Given the description of an element on the screen output the (x, y) to click on. 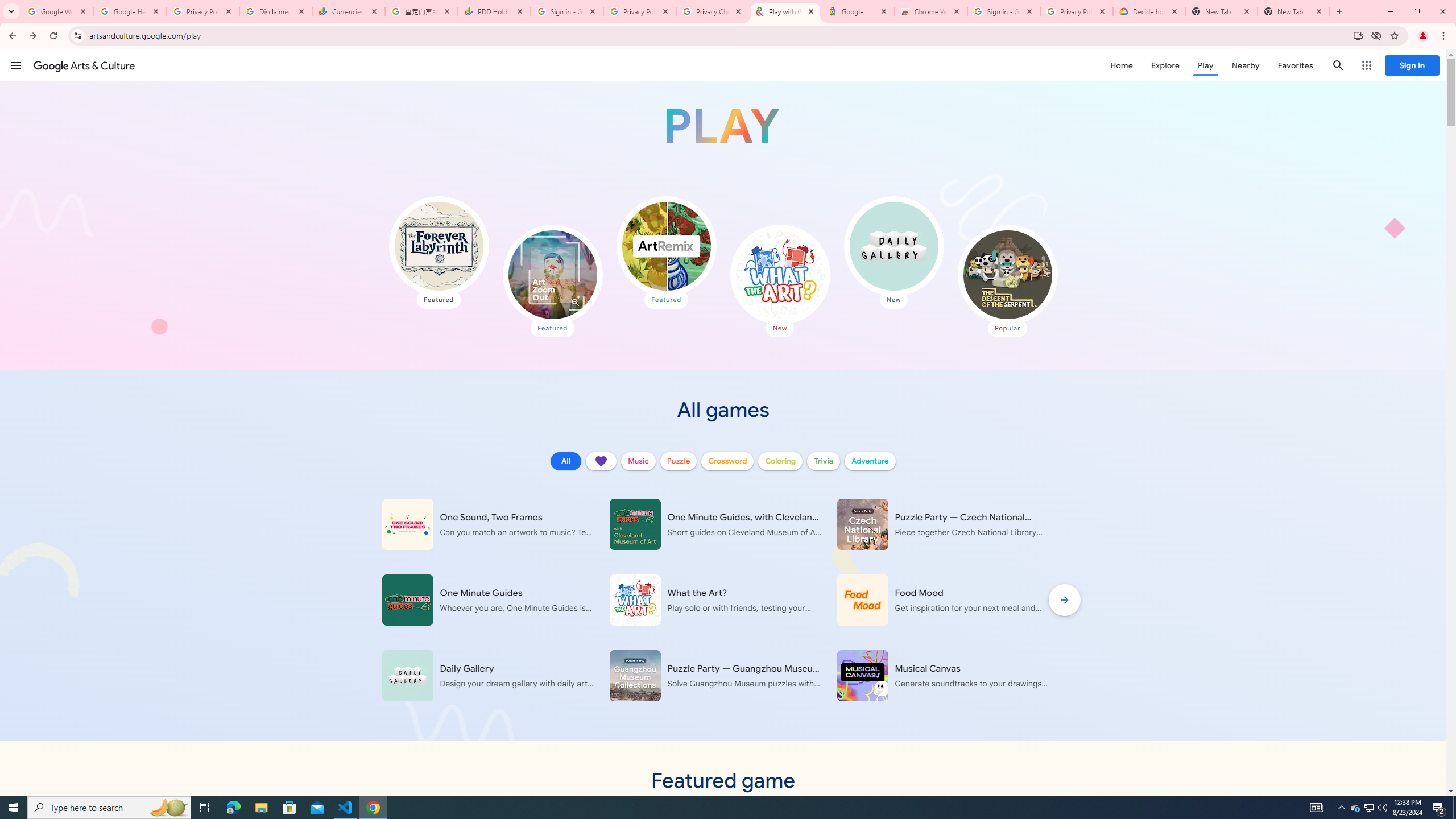
Install Google Arts & Culture (1358, 35)
Google Workspace Admin Community (57, 11)
Currencies - Google Finance (348, 11)
Google Arts & Culture (84, 65)
Art Zoom Out (552, 274)
Favorites (1295, 65)
The Forever Labyrinth (438, 246)
